Given the description of an element on the screen output the (x, y) to click on. 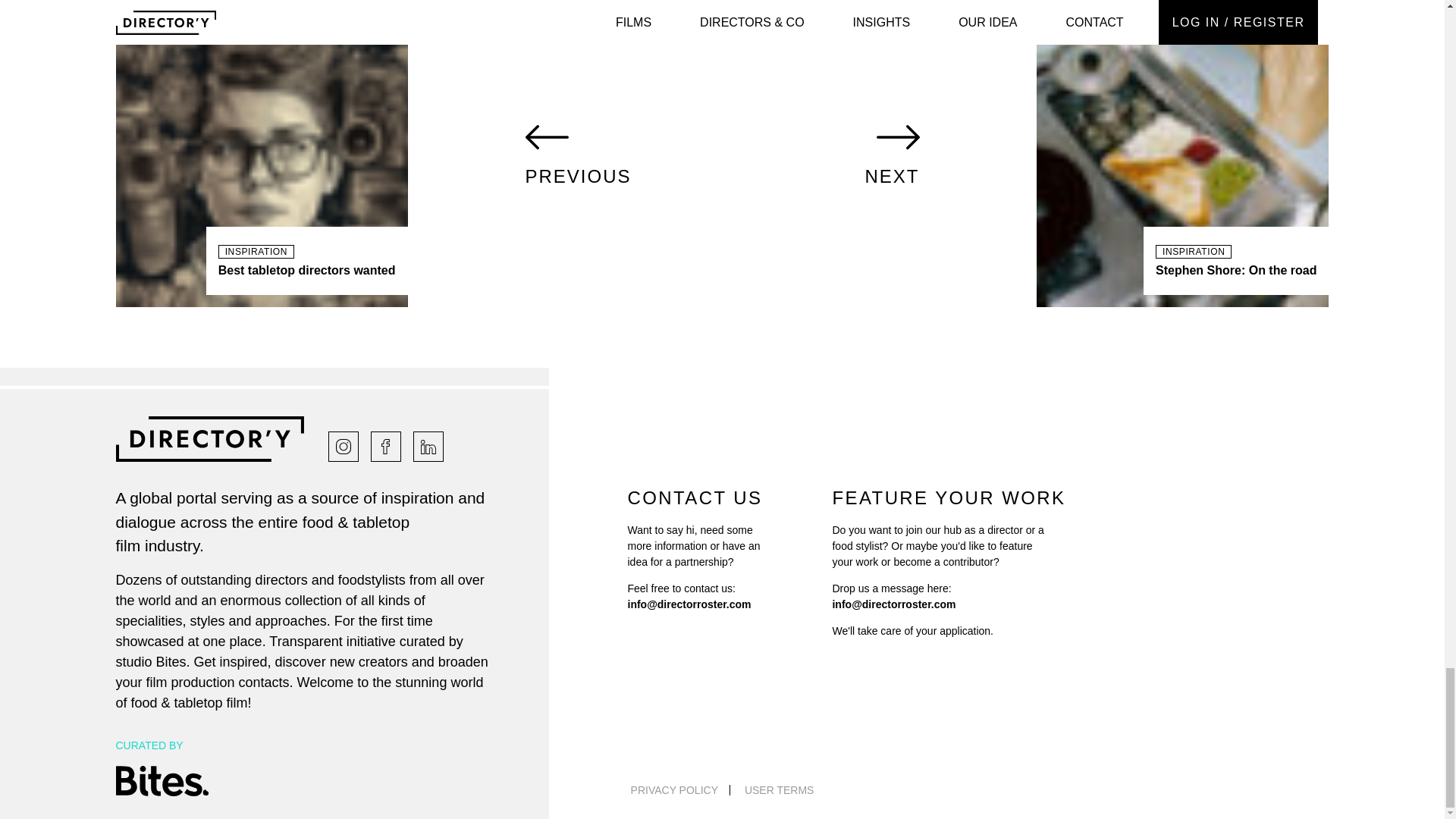
PREVIOUS (261, 155)
NEXT (1181, 155)
